Given the description of an element on the screen output the (x, y) to click on. 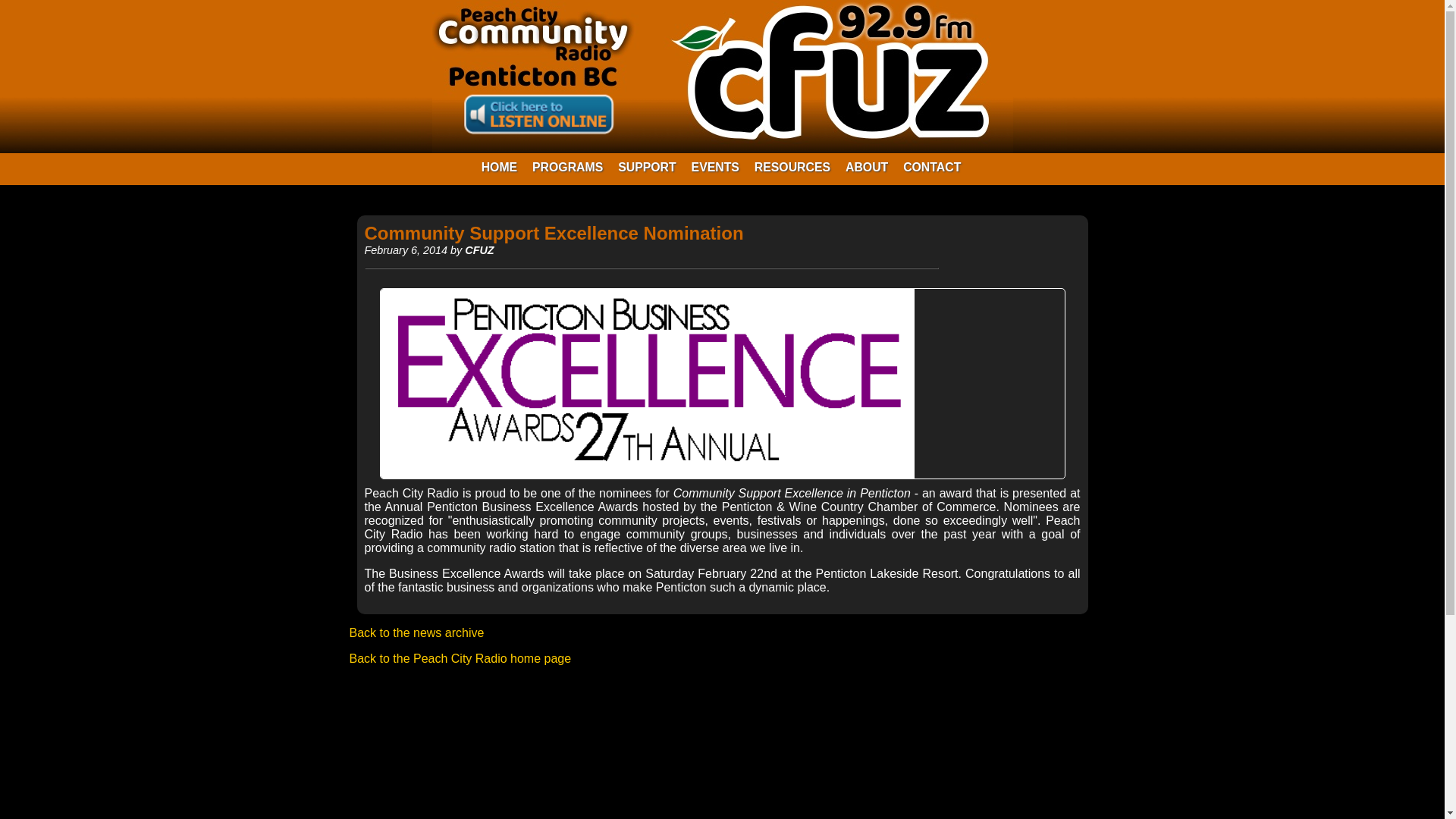
EVENTS (715, 167)
PROGRAMS (567, 167)
CONTACT (931, 167)
HOME (499, 167)
ABOUT (866, 167)
SUPPORT (647, 167)
RESOURCES (792, 167)
